Given the description of an element on the screen output the (x, y) to click on. 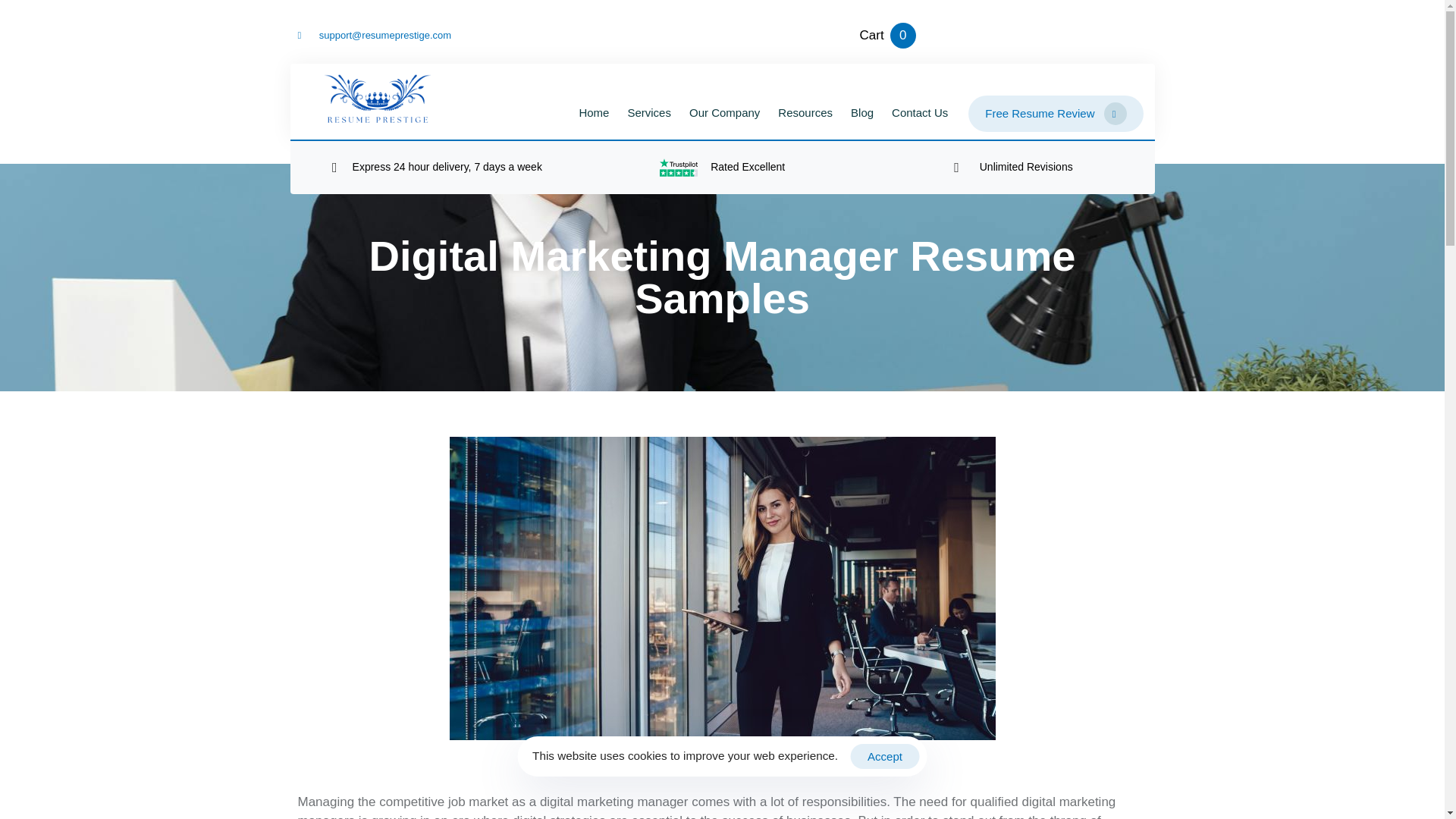
Resources (804, 113)
Our Company (723, 113)
Contact Us (919, 113)
Services (648, 113)
Free Resume Review (1055, 113)
